Given the description of an element on the screen output the (x, y) to click on. 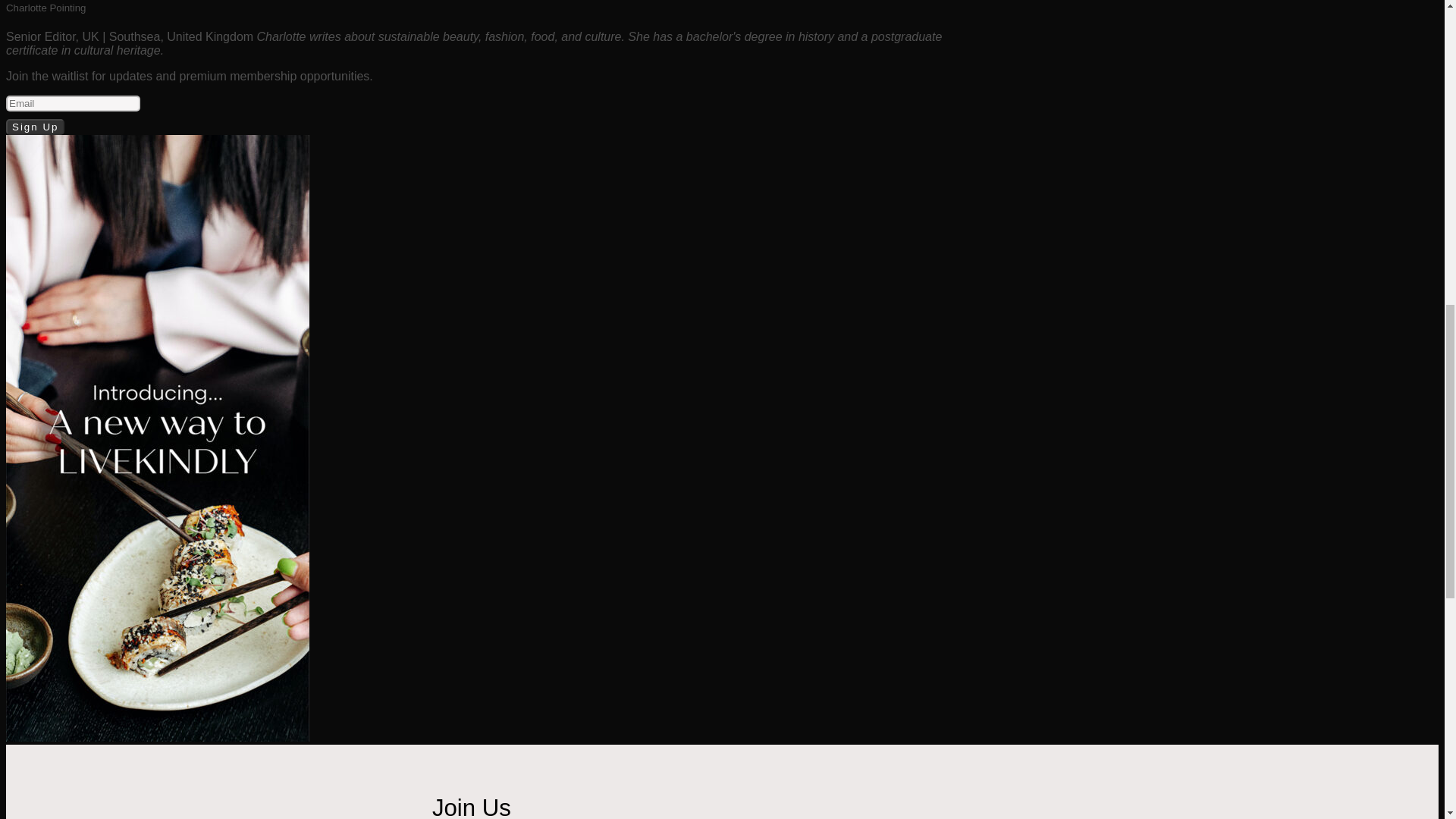
Sign Up (34, 126)
